Given the description of an element on the screen output the (x, y) to click on. 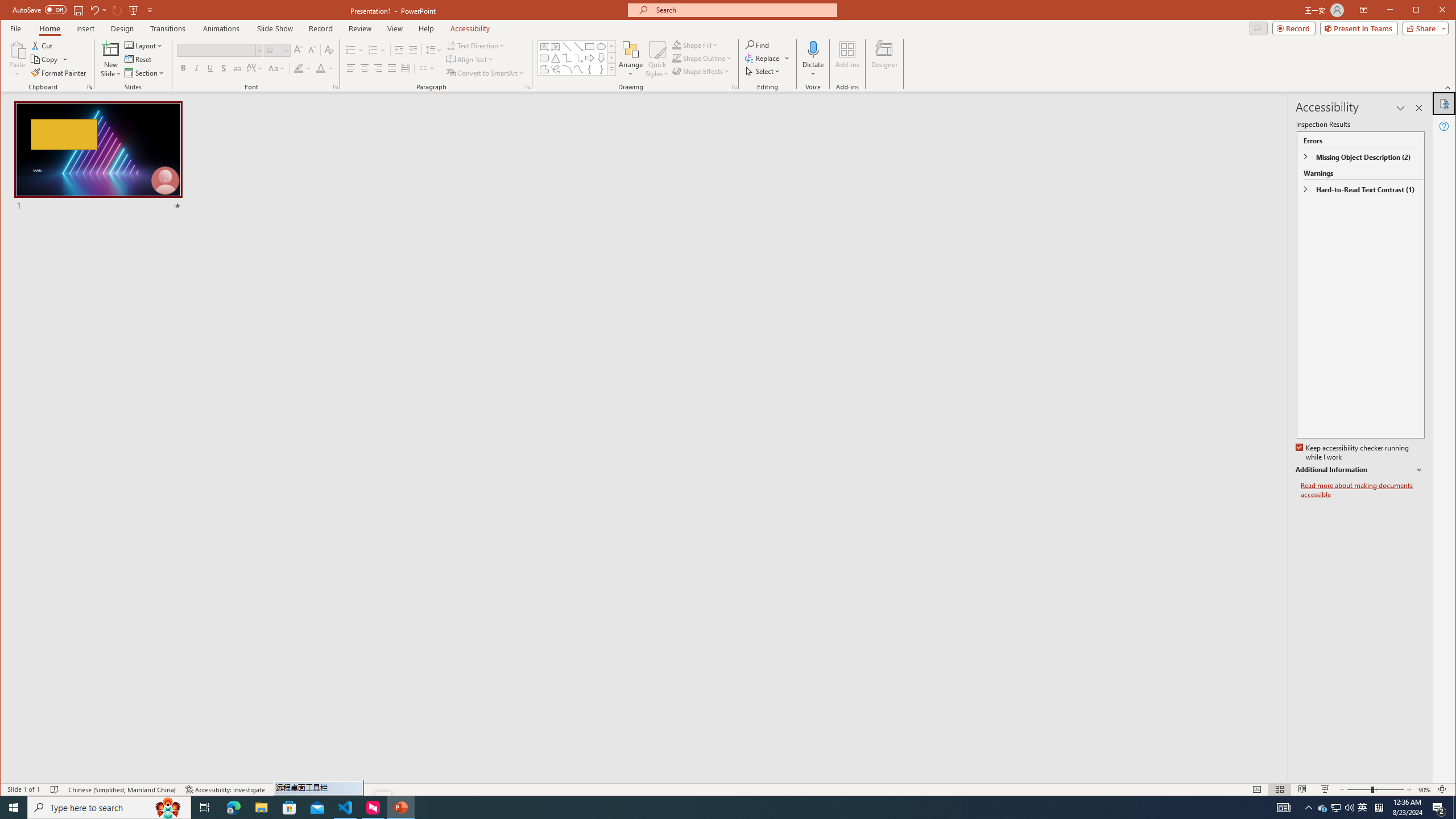
Curve (577, 69)
Zoom Out (1358, 789)
Reset (138, 59)
Collapse the Ribbon (1448, 87)
Font (215, 50)
Open (285, 50)
Bullets (350, 49)
Convert to SmartArt (485, 72)
Designer (884, 59)
Align Left (350, 68)
Record (1294, 28)
Format Object... (733, 86)
Section (144, 72)
Tray Input Indicator - Chinese (Simplified, China) (1378, 807)
